Given the description of an element on the screen output the (x, y) to click on. 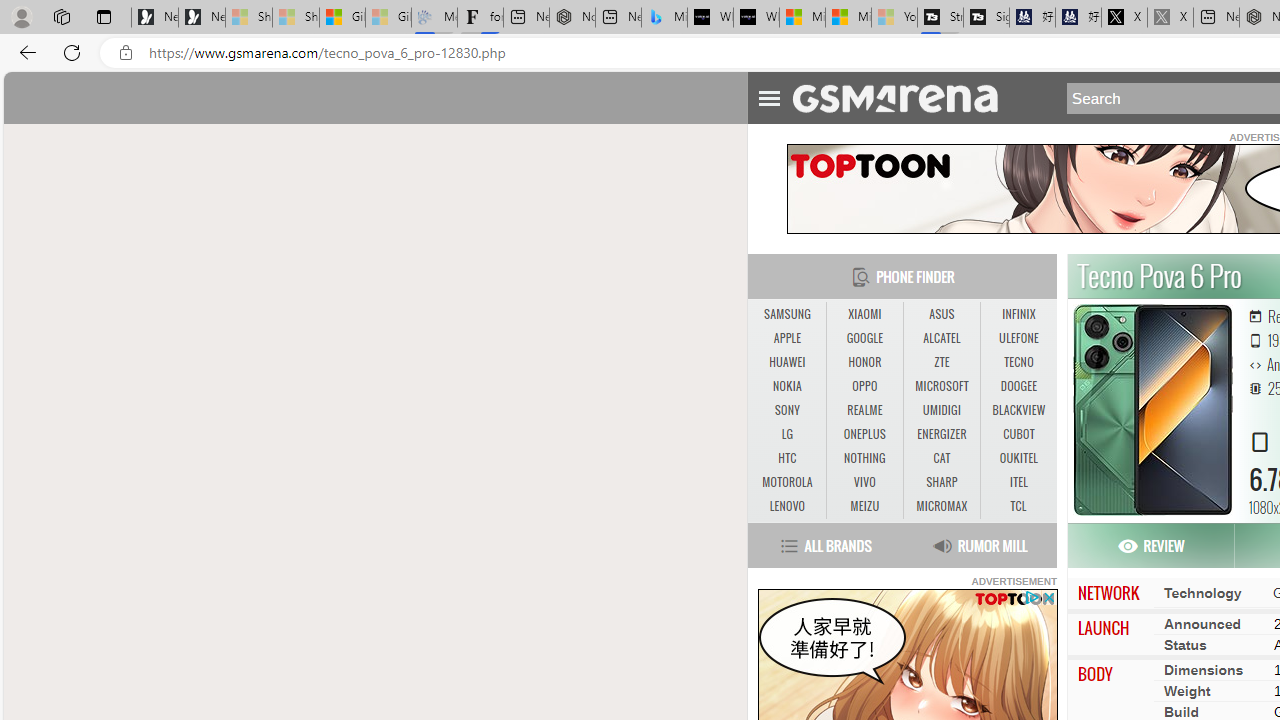
OPPO (864, 386)
Microsoft Start Sports (802, 17)
ENERGIZER (941, 434)
XIAOMI (863, 313)
X - Sleeping (1170, 17)
Nordace - #1 Japanese Best-Seller - Siena Smart Backpack (572, 17)
MEIZU (863, 506)
REALME (864, 411)
REALME (863, 410)
Toggle Navigation (768, 95)
MICROMAX (941, 506)
Newsletter Sign Up (202, 17)
GOOGLE (864, 339)
